Given the description of an element on the screen output the (x, y) to click on. 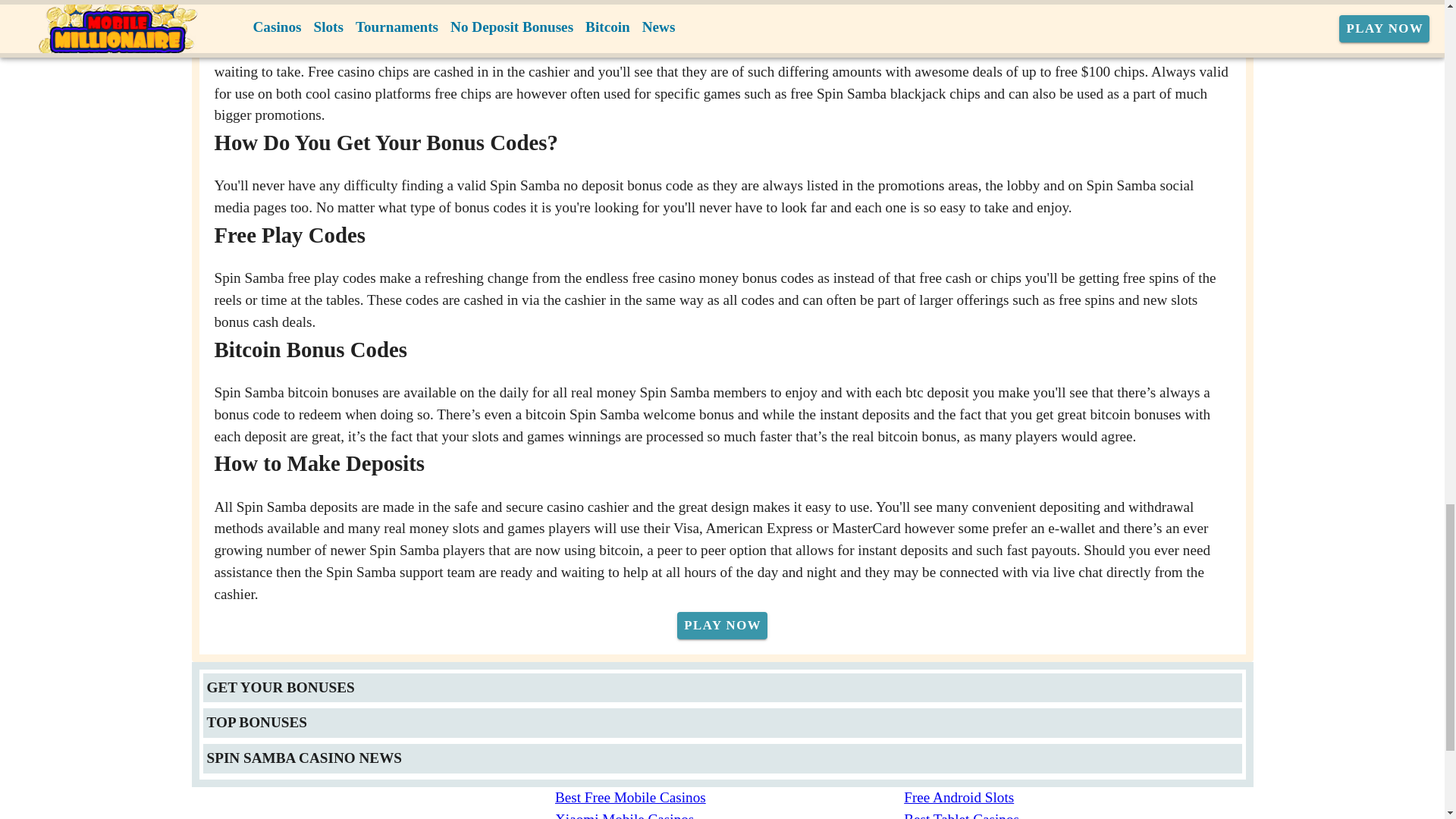
PLAY NOW (722, 625)
Xiaomi Mobile Casinos (729, 814)
Best Free Mobile Casinos (729, 798)
Best Tablet Casinos (1078, 814)
Free Android Slots (1078, 798)
